Given the description of an element on the screen output the (x, y) to click on. 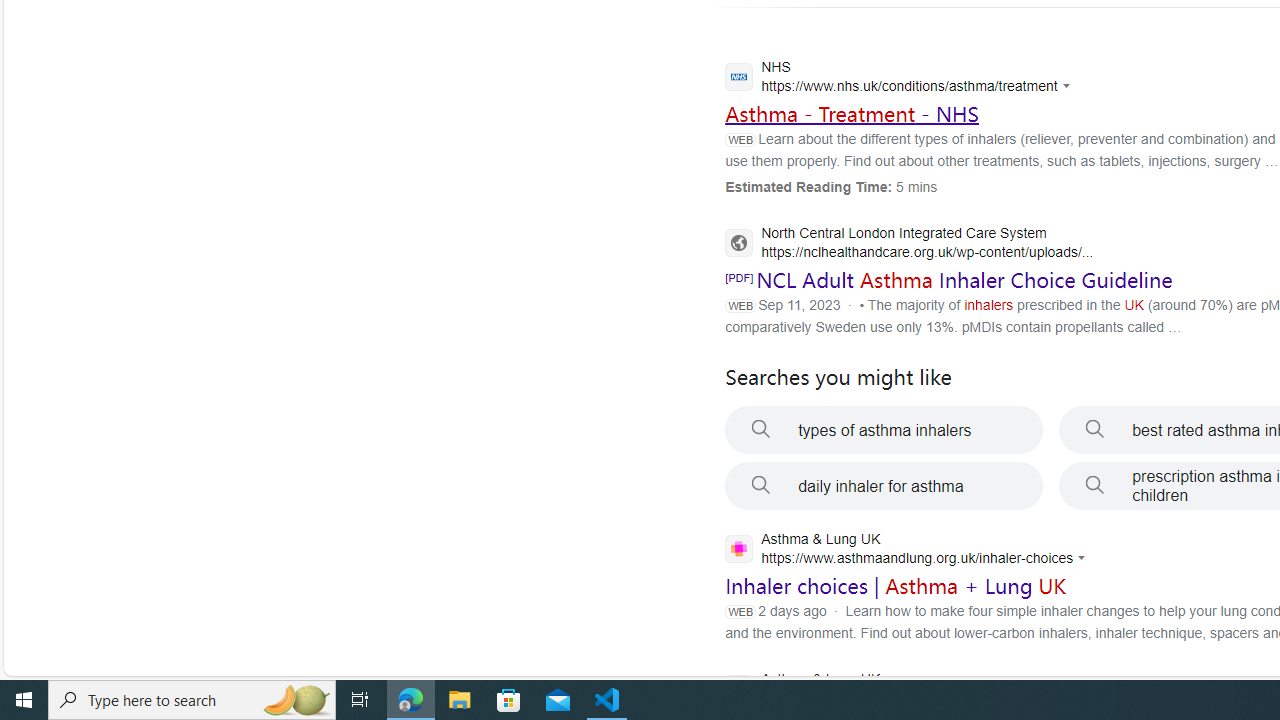
daily inhaler for asthma (884, 485)
Inhaler choices | Asthma + Lung UK (895, 586)
North Central London Integrated Care System (909, 244)
NHS (902, 79)
types of asthma inhalers (884, 430)
types of asthma inhalers (884, 430)
daily inhaler for asthma (884, 485)
NCL Adult Asthma Inhaler Choice Guideline (964, 280)
Asthma - Treatment - NHS (851, 113)
Estimated Reading Time: 5 mins (831, 186)
Asthma & Lung UK (902, 691)
Actions for this site (1084, 557)
